Given the description of an element on the screen output the (x, y) to click on. 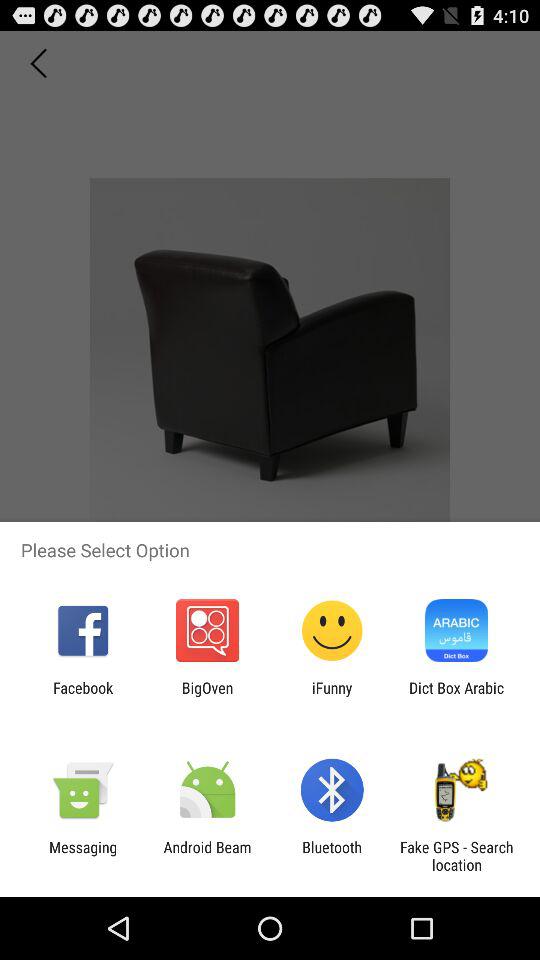
open the app to the left of the bigoven item (83, 696)
